Given the description of an element on the screen output the (x, y) to click on. 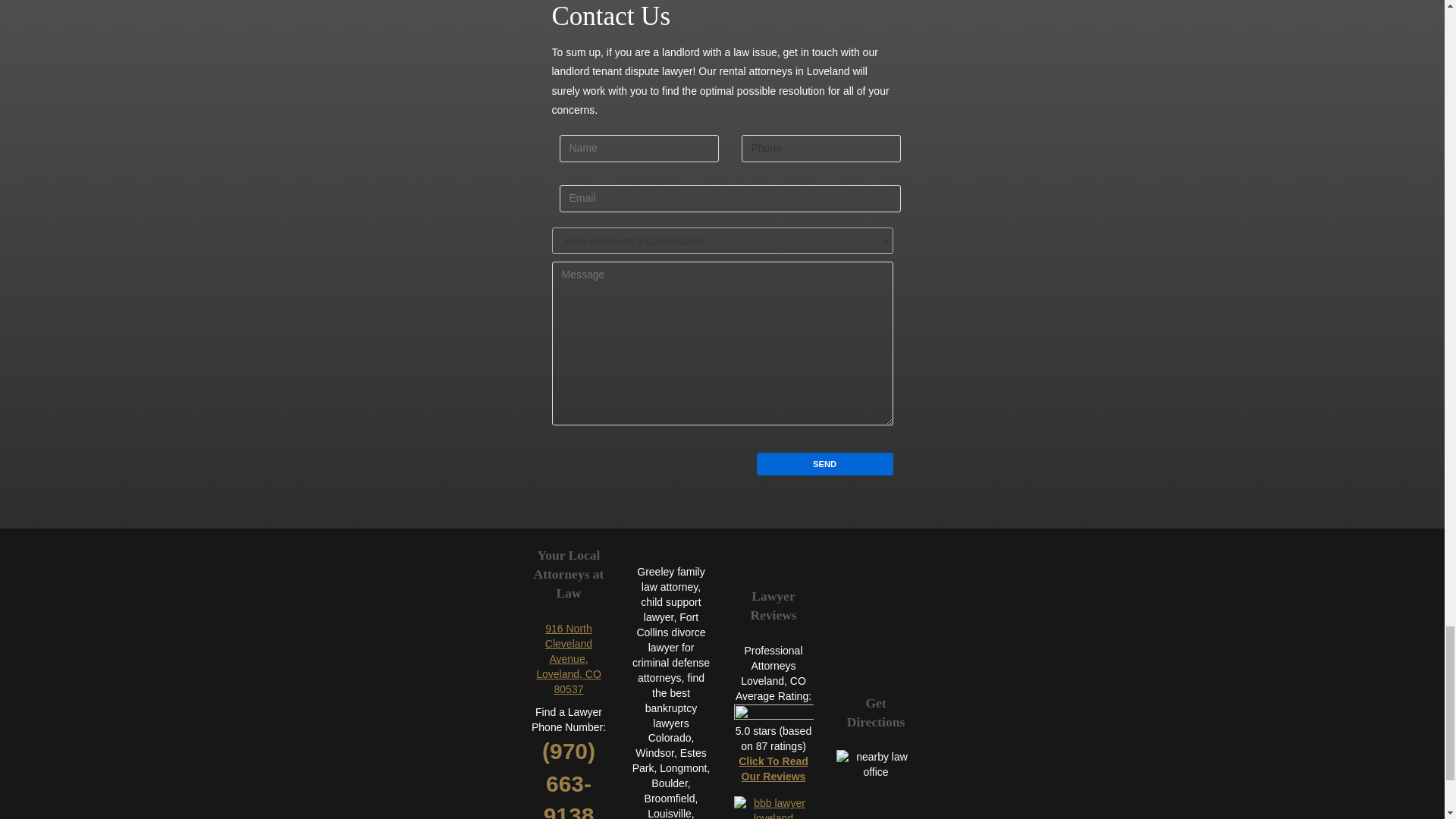
Send (825, 463)
Phone (821, 148)
Send (825, 463)
